Given the description of an element on the screen output the (x, y) to click on. 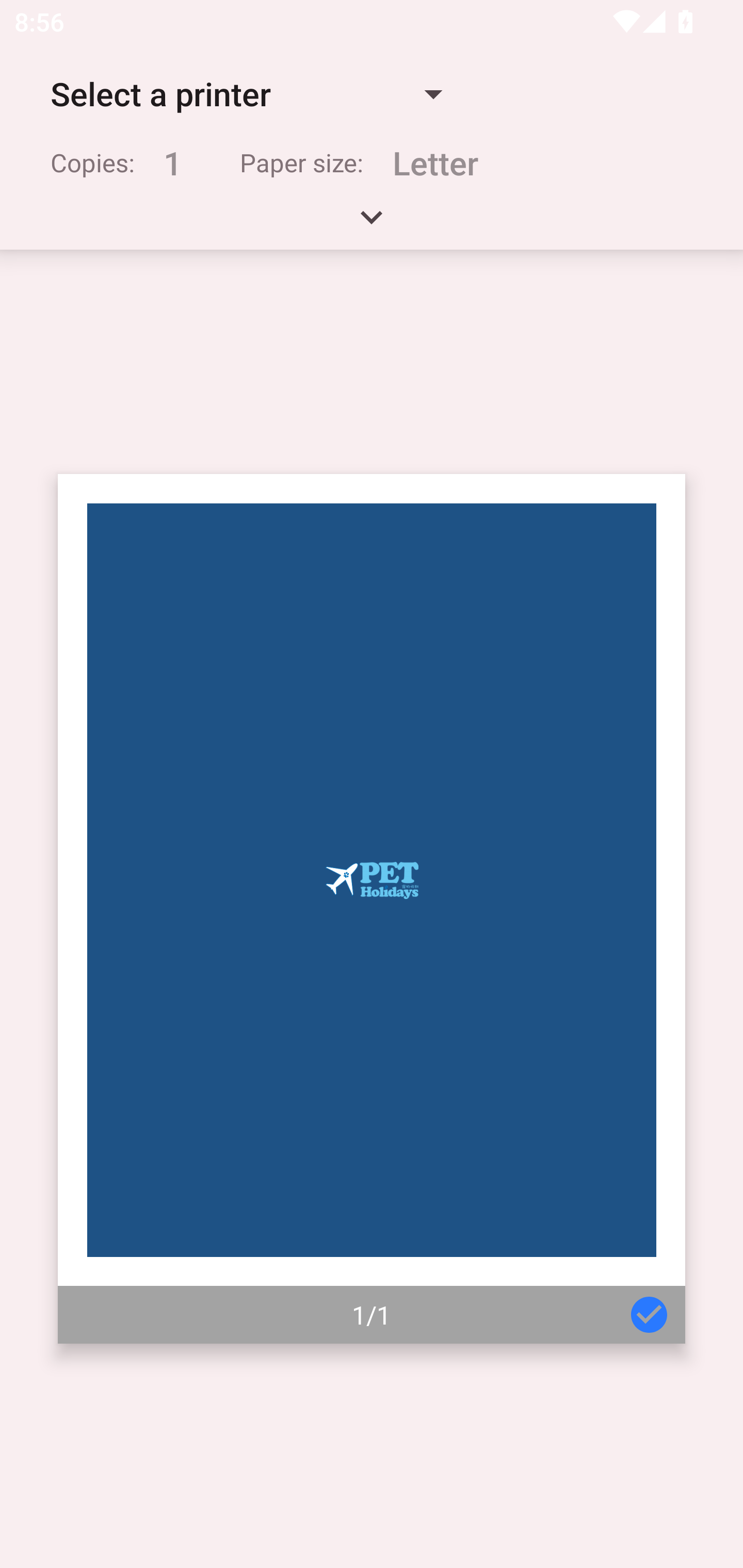
Select a printer (245, 93)
Expand handle (371, 224)
Page 1 of 1 1/1 (371, 908)
